Given the description of an element on the screen output the (x, y) to click on. 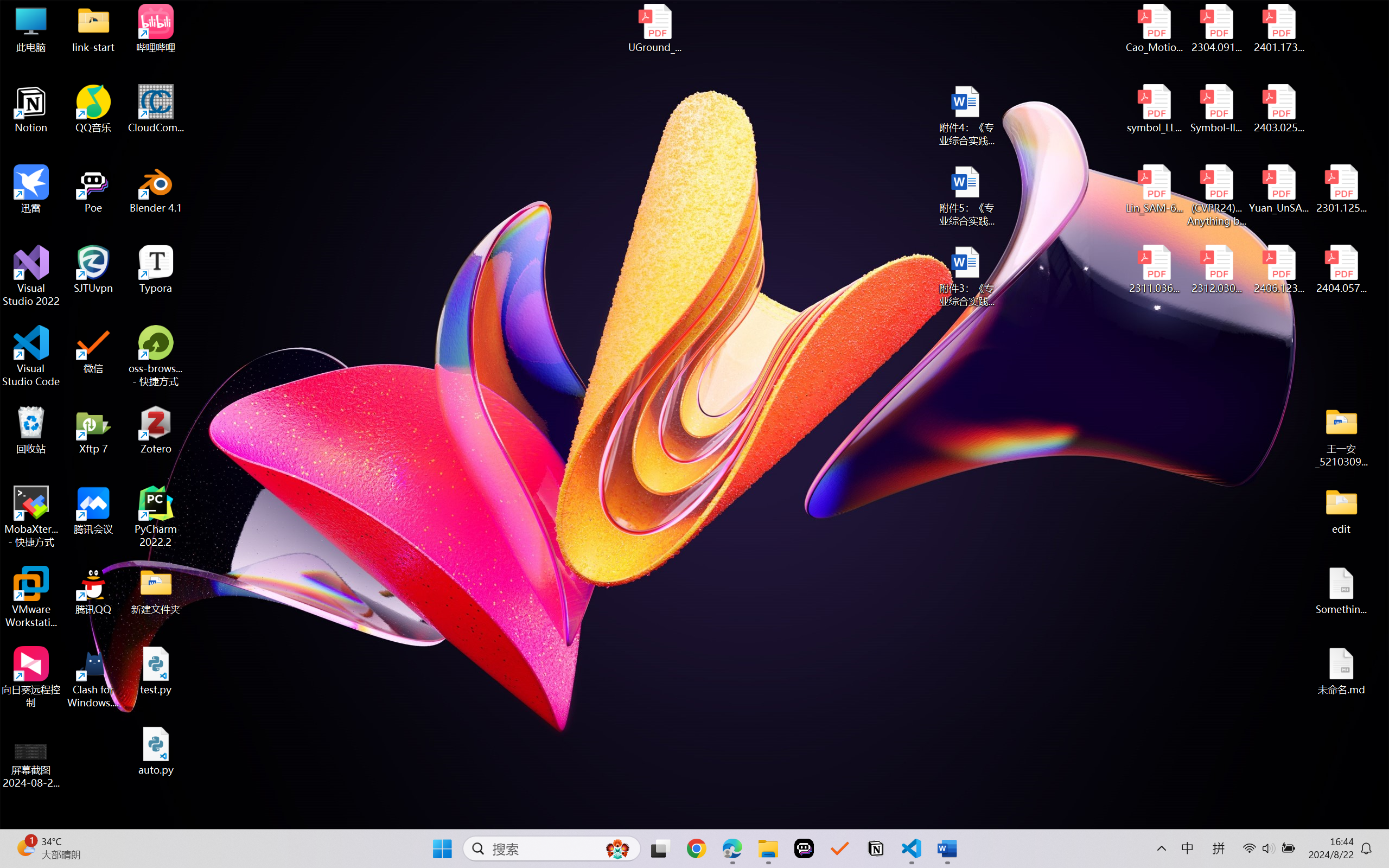
auto.py (156, 751)
